Given the description of an element on the screen output the (x, y) to click on. 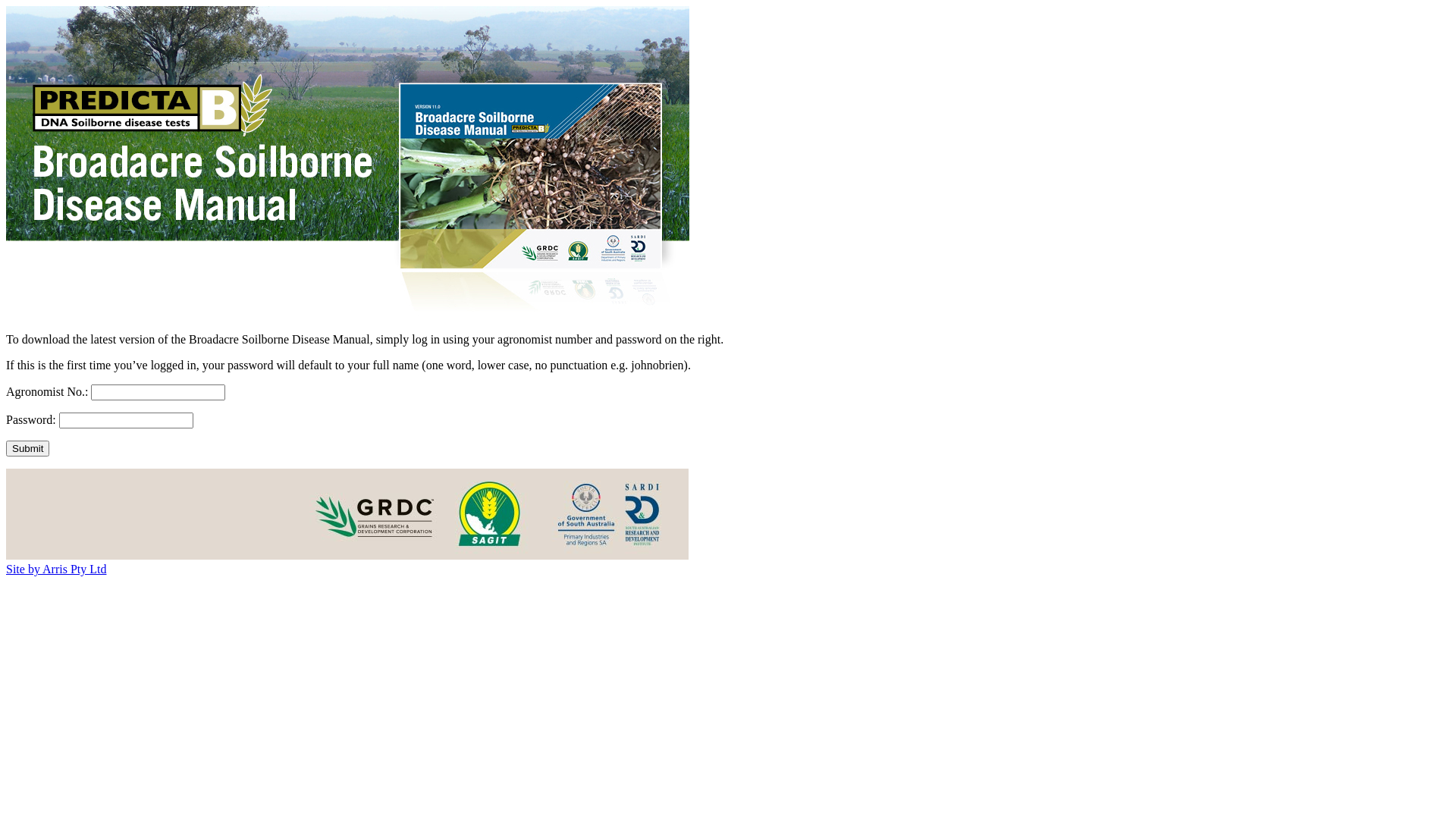
Site by Arris Pty Ltd Element type: text (56, 568)
Submit Element type: text (27, 448)
